Given the description of an element on the screen output the (x, y) to click on. 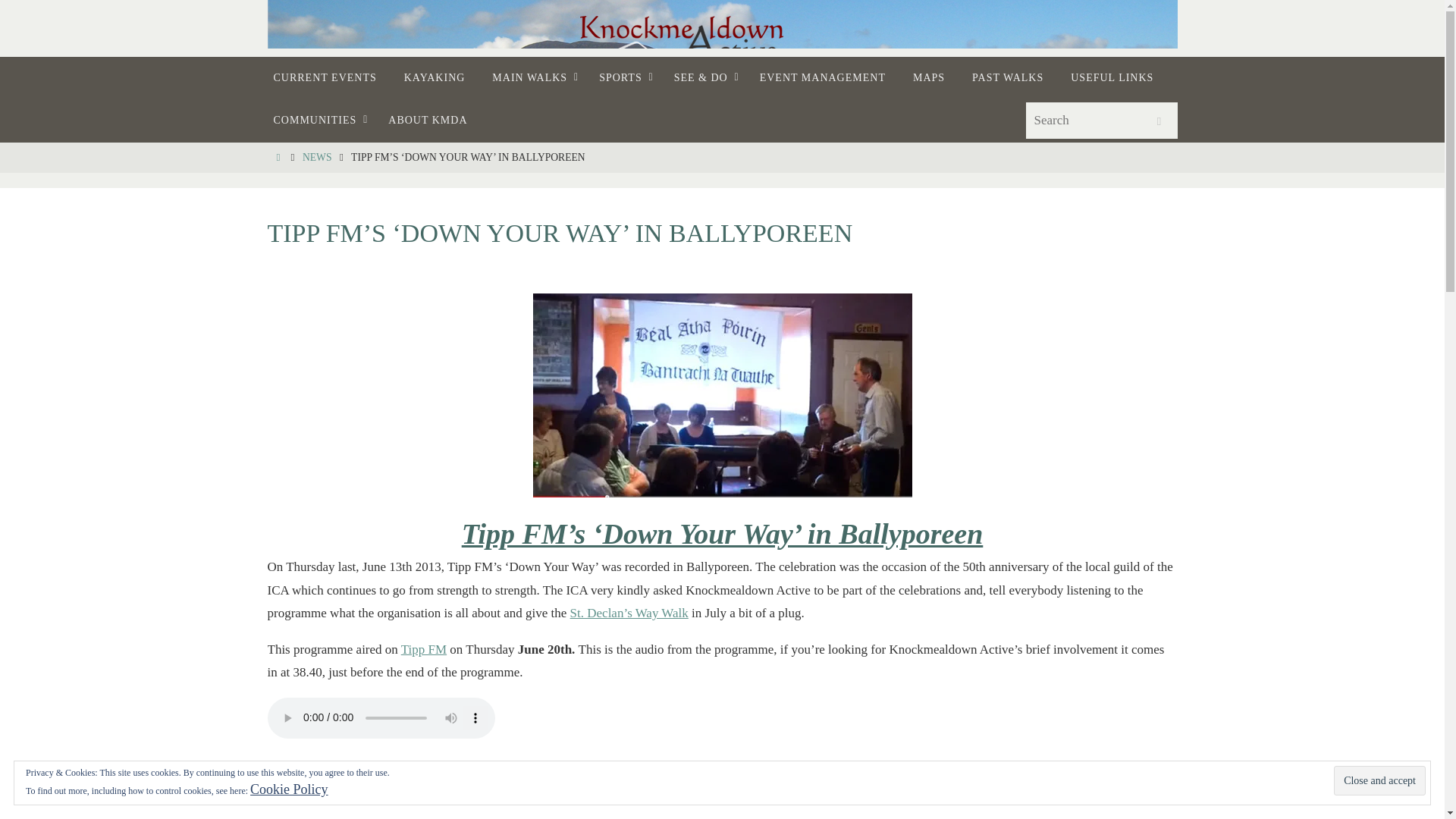
Search (1158, 121)
Down Your Way Live Website (423, 649)
KAYAKING (434, 77)
CURRENT EVENTS (324, 77)
USEFUL LINKS (1112, 77)
SPORTS (623, 77)
Close and accept (1379, 780)
MAIN WALKS (532, 77)
PAST WALKS (1007, 77)
MAPS (928, 77)
